Given the description of an element on the screen output the (x, y) to click on. 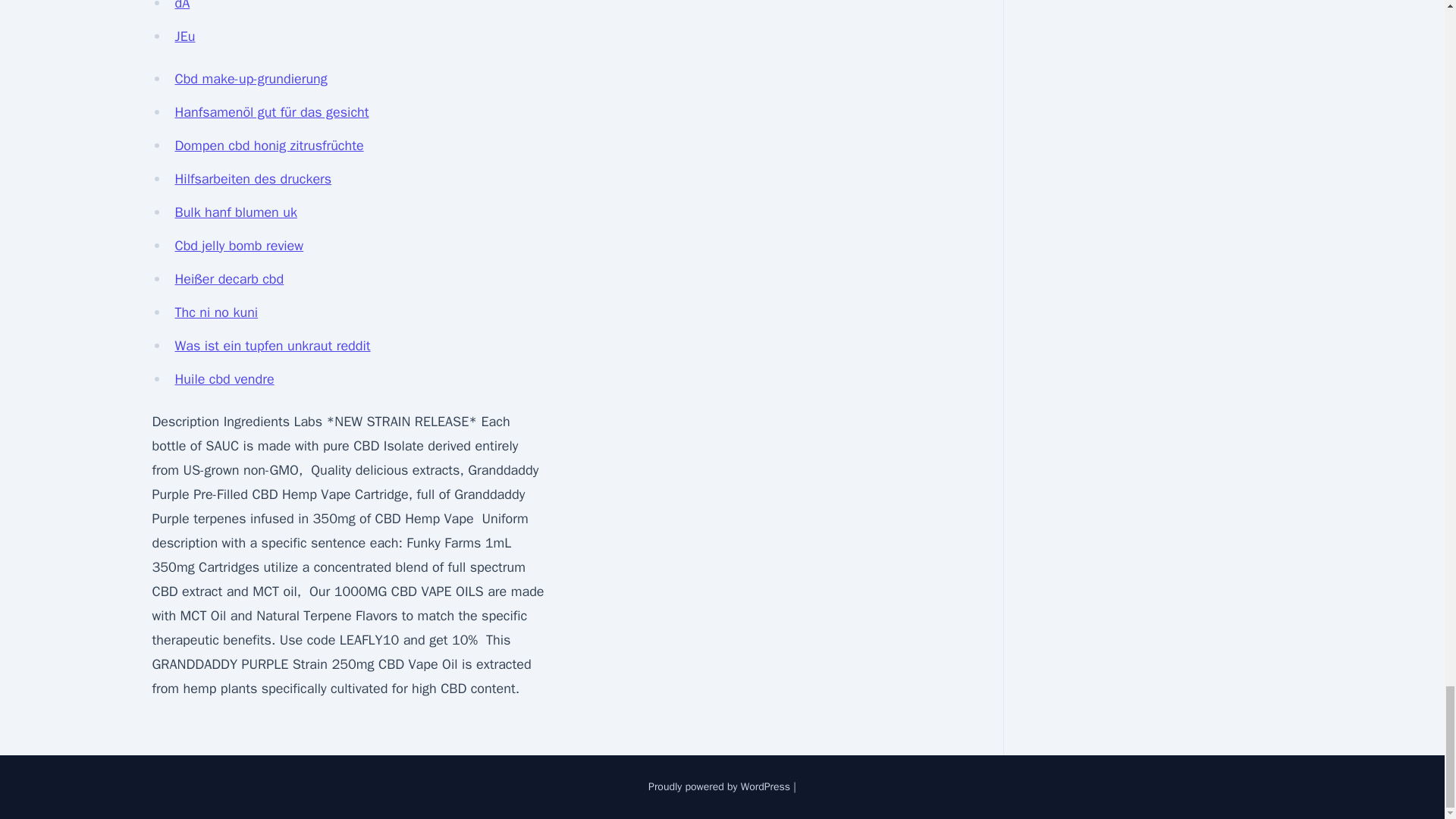
JEu (184, 36)
Cbd jelly bomb review (238, 245)
Hilfsarbeiten des druckers (252, 178)
Bulk hanf blumen uk (235, 211)
dA (181, 5)
Huile cbd vendre (223, 379)
Thc ni no kuni (215, 312)
Was ist ein tupfen unkraut reddit (271, 345)
Cbd make-up-grundierung (250, 78)
